Given the description of an element on the screen output the (x, y) to click on. 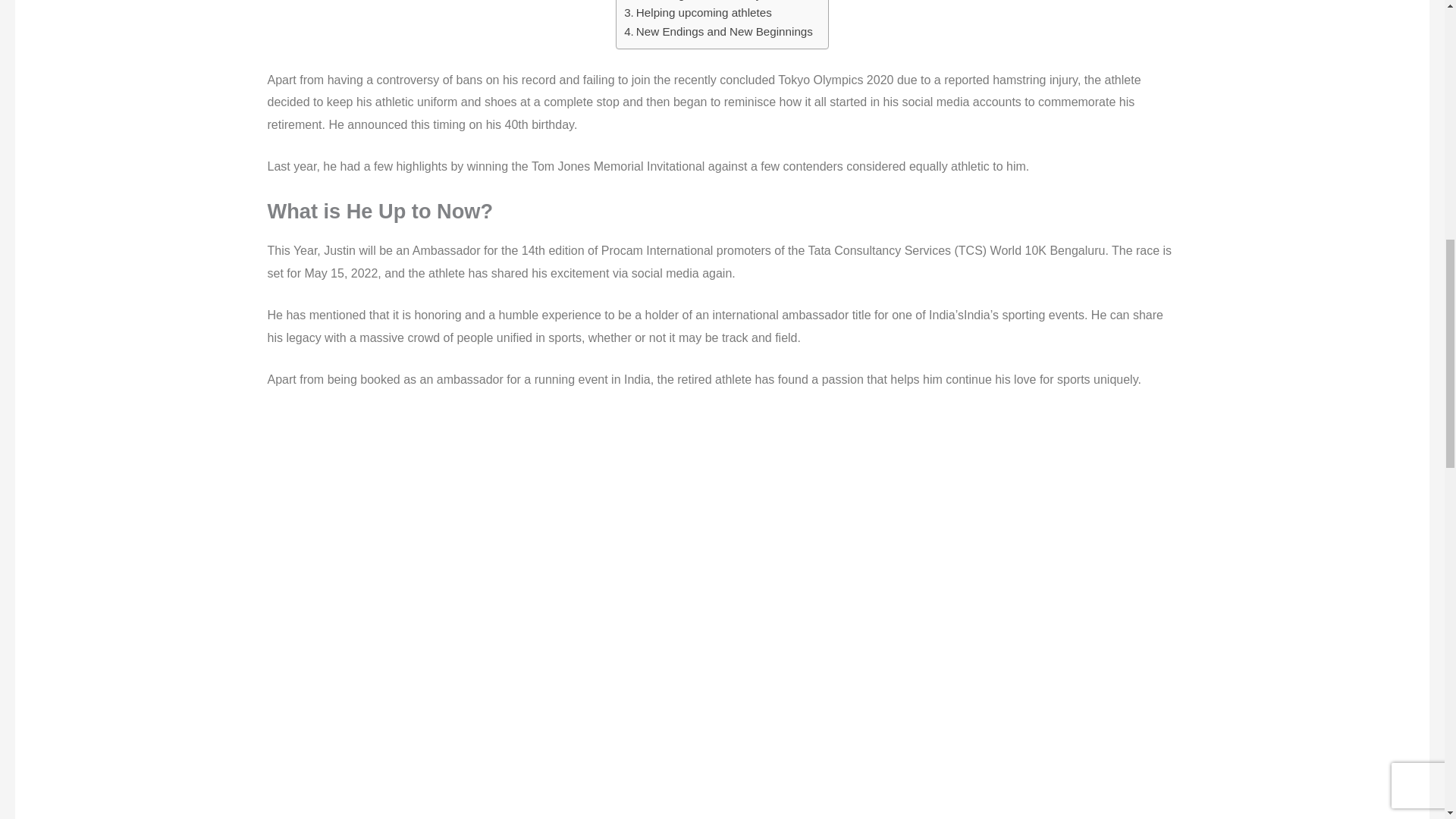
Helping upcoming athletes (697, 13)
New Endings and New Beginnings (718, 31)
Coaching a team of 11-year-olds (713, 2)
Coaching a team of 11-year-olds (713, 2)
Helping upcoming athletes (697, 13)
New Endings and New Beginnings (718, 31)
